Given the description of an element on the screen output the (x, y) to click on. 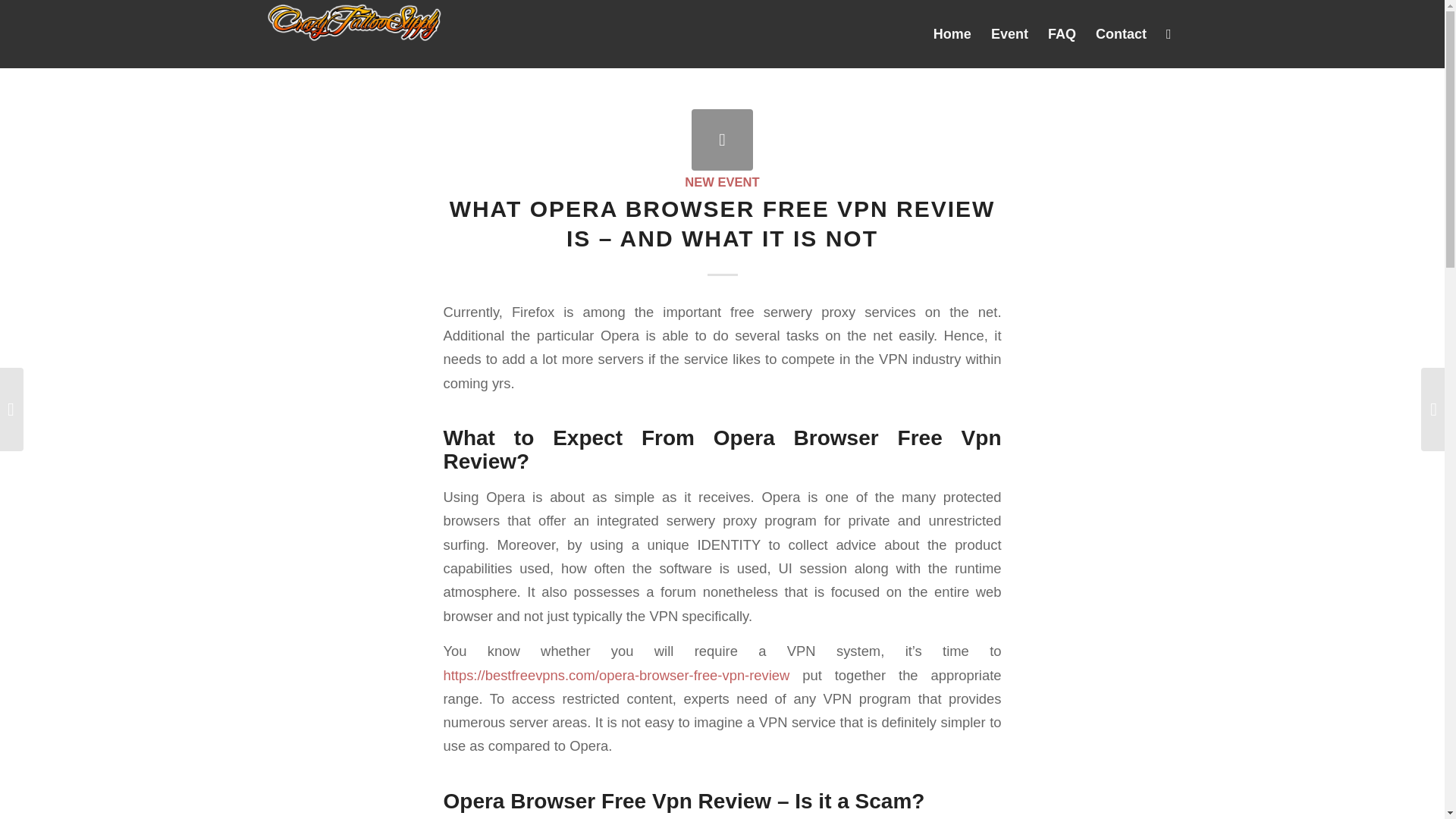
Contact (1121, 33)
What Opera Browser Free Vpn Review Is - and What it Is Not (721, 139)
NEW EVENT (721, 182)
